Given the description of an element on the screen output the (x, y) to click on. 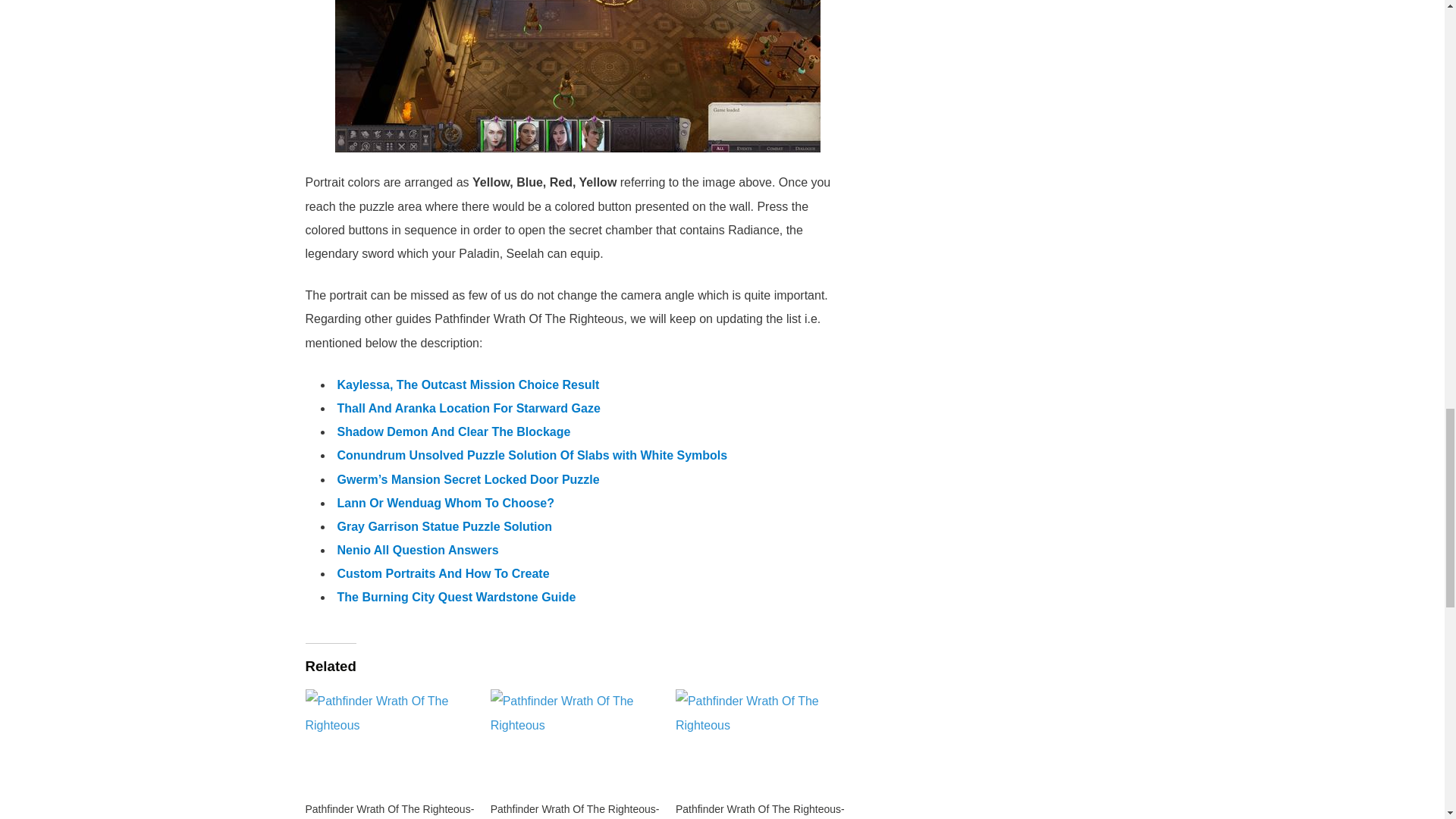
Kaylessa, The Outcast Mission Choice Result (467, 384)
Lann Or Wenduag Whom To Choose? (445, 502)
Thall And Aranka Location For Starward Gaze (467, 408)
Shadow Demon And Clear The Blockage (453, 431)
